Given the description of an element on the screen output the (x, y) to click on. 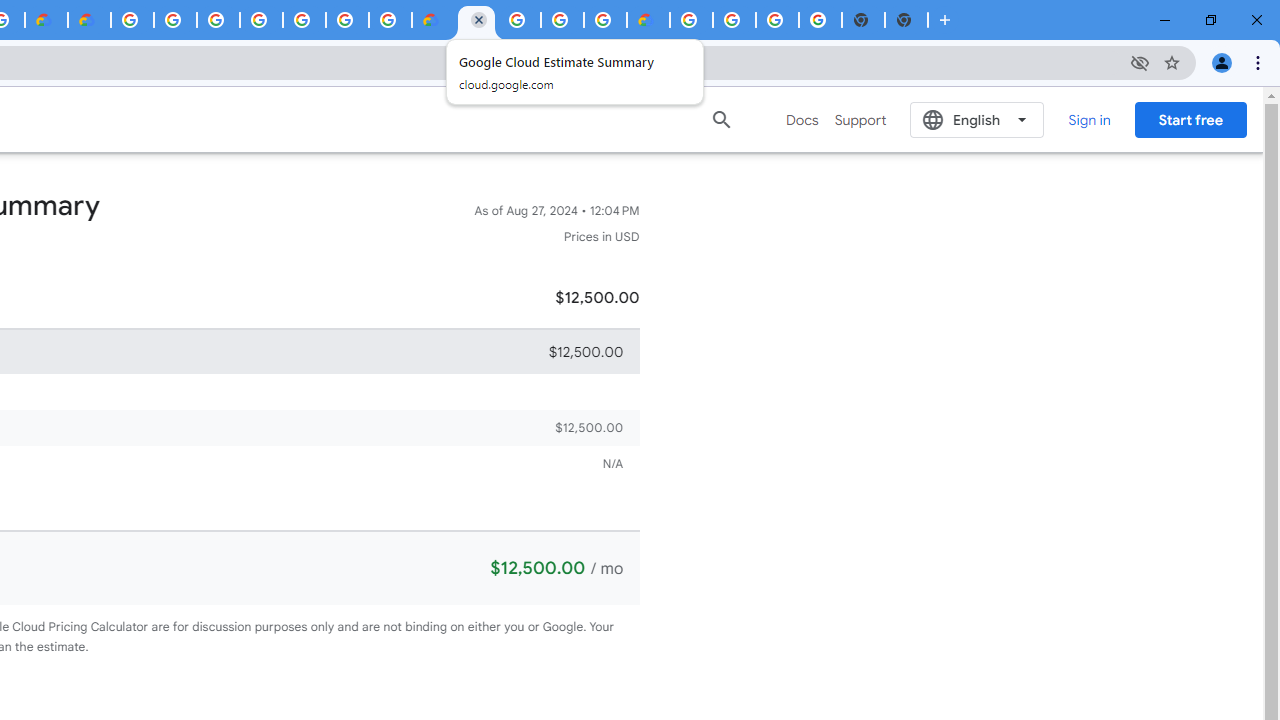
Google Cloud Platform (690, 20)
Google Cloud Service Health (648, 20)
New Tab (905, 20)
Google Cloud Estimate Summary (475, 20)
Start free (1190, 119)
Browse Chrome as a guest - Computer - Google Chrome Help (605, 20)
Google Cloud Platform (132, 20)
Google Cloud Platform (734, 20)
Google Cloud Platform (519, 20)
